Given the description of an element on the screen output the (x, y) to click on. 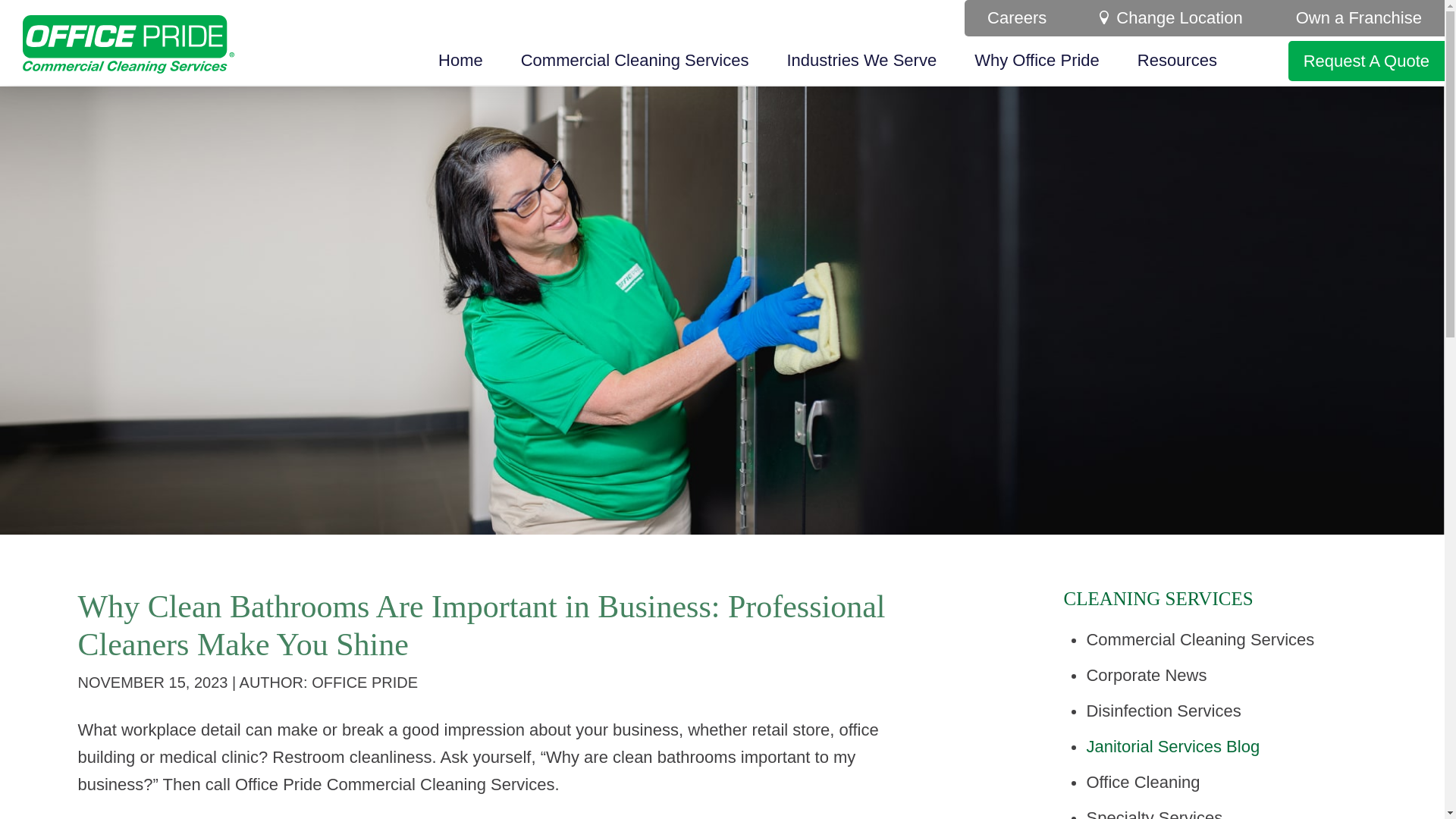
Why Office Pride (1037, 60)
Commercial Cleaning Services (634, 60)
Industries We Serve (861, 60)
Home (460, 60)
Resources (1176, 60)
